Given the description of an element on the screen output the (x, y) to click on. 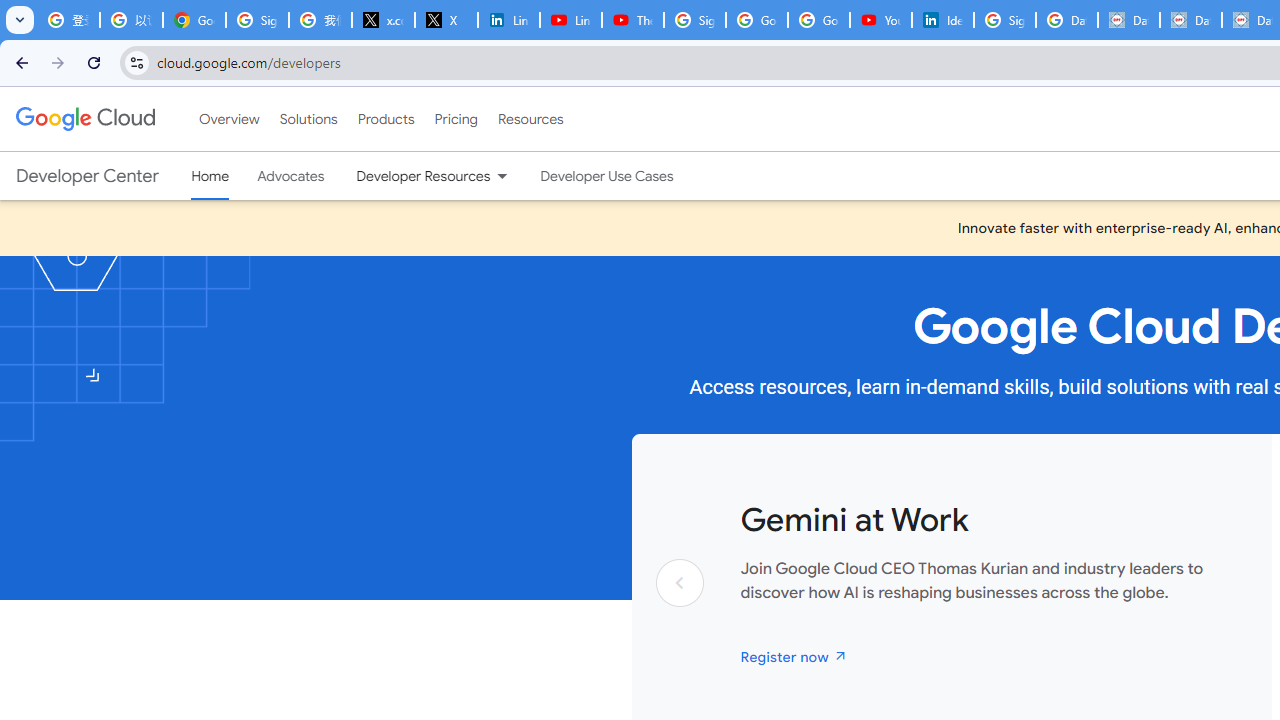
Overview (228, 119)
Sign in - Google Accounts (257, 20)
LinkedIn - YouTube (570, 20)
Developer Center (87, 175)
Solutions (308, 119)
Register now (793, 656)
LinkedIn Privacy Policy (508, 20)
Sign in - Google Accounts (694, 20)
Sign in - Google Accounts (1004, 20)
